Given the description of an element on the screen output the (x, y) to click on. 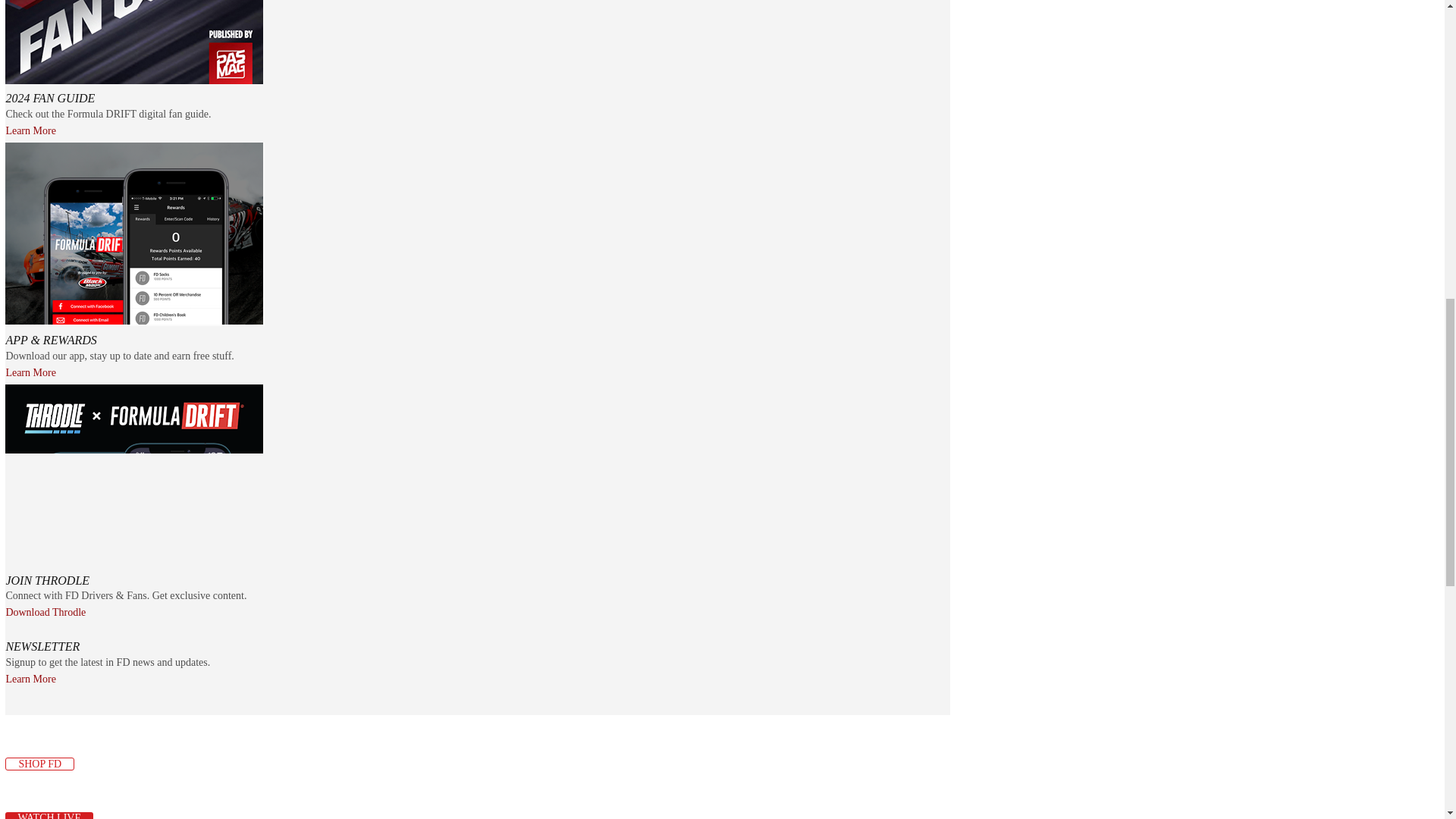
Learn More (30, 371)
WATCH LIVE (49, 815)
SHOP FD (39, 763)
Learn More (30, 131)
Download Throdle (45, 612)
Learn More (30, 679)
